Given the description of an element on the screen output the (x, y) to click on. 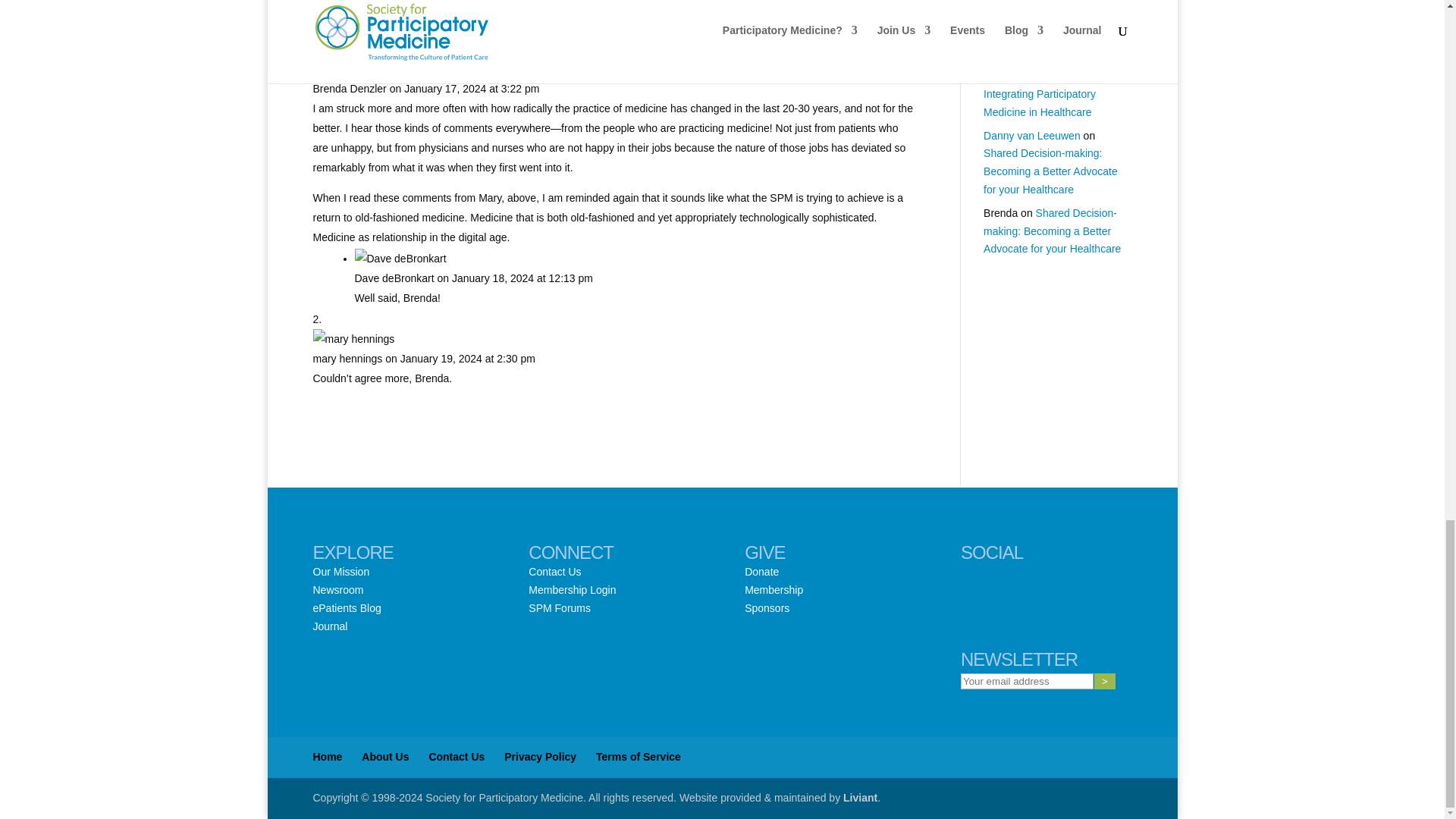
Peter Elias (1009, 39)
Danny van Leeuwen (1032, 135)
